Given the description of an element on the screen output the (x, y) to click on. 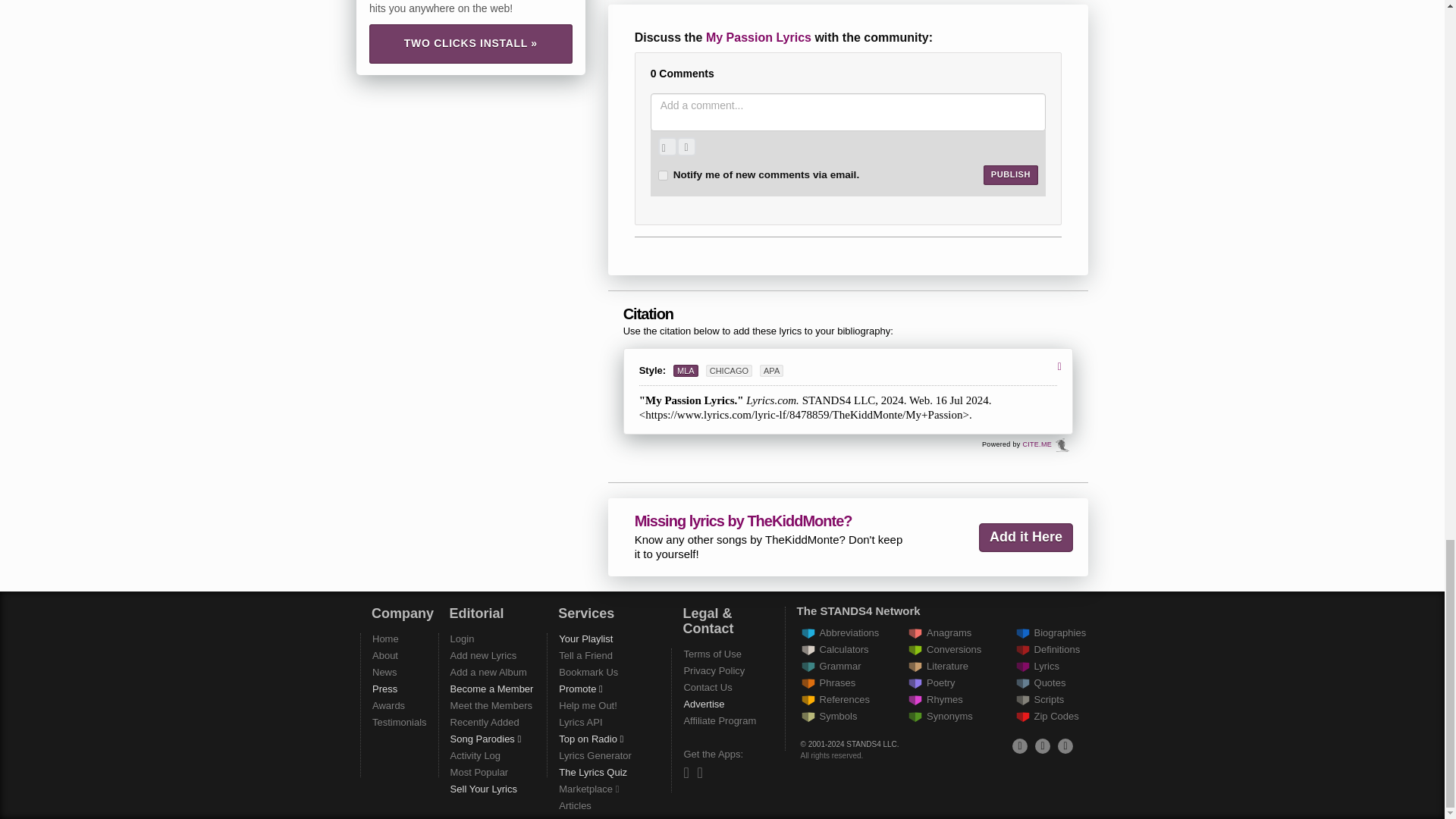
on (663, 175)
